Given the description of an element on the screen output the (x, y) to click on. 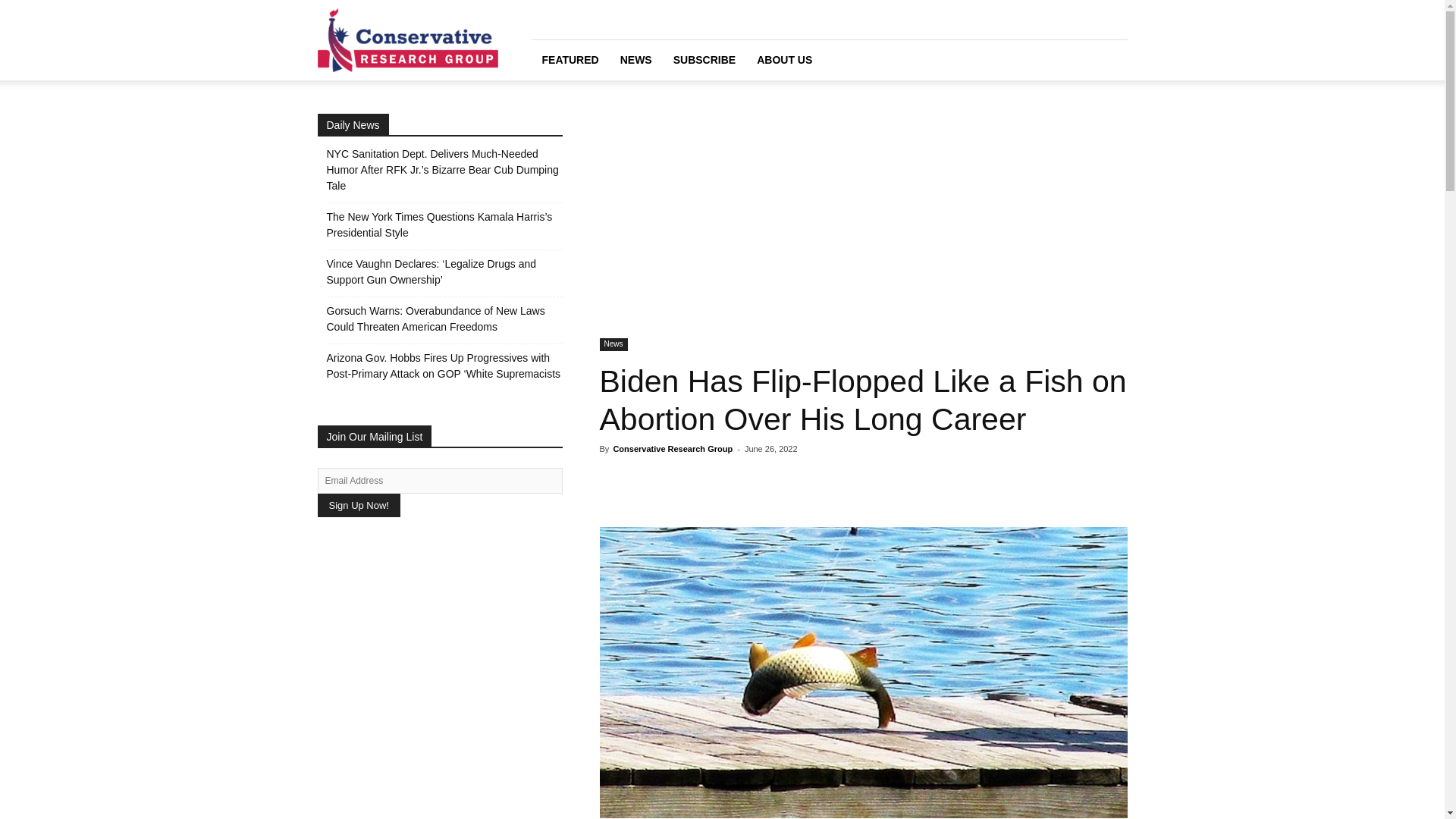
News (612, 344)
FEATURED (569, 60)
SUBSCRIBE (703, 60)
Advertisement (862, 225)
Sign Up Now! (357, 504)
Conservative Research Group (672, 448)
ABOUT US (783, 60)
NEWS (636, 60)
